Given the description of an element on the screen output the (x, y) to click on. 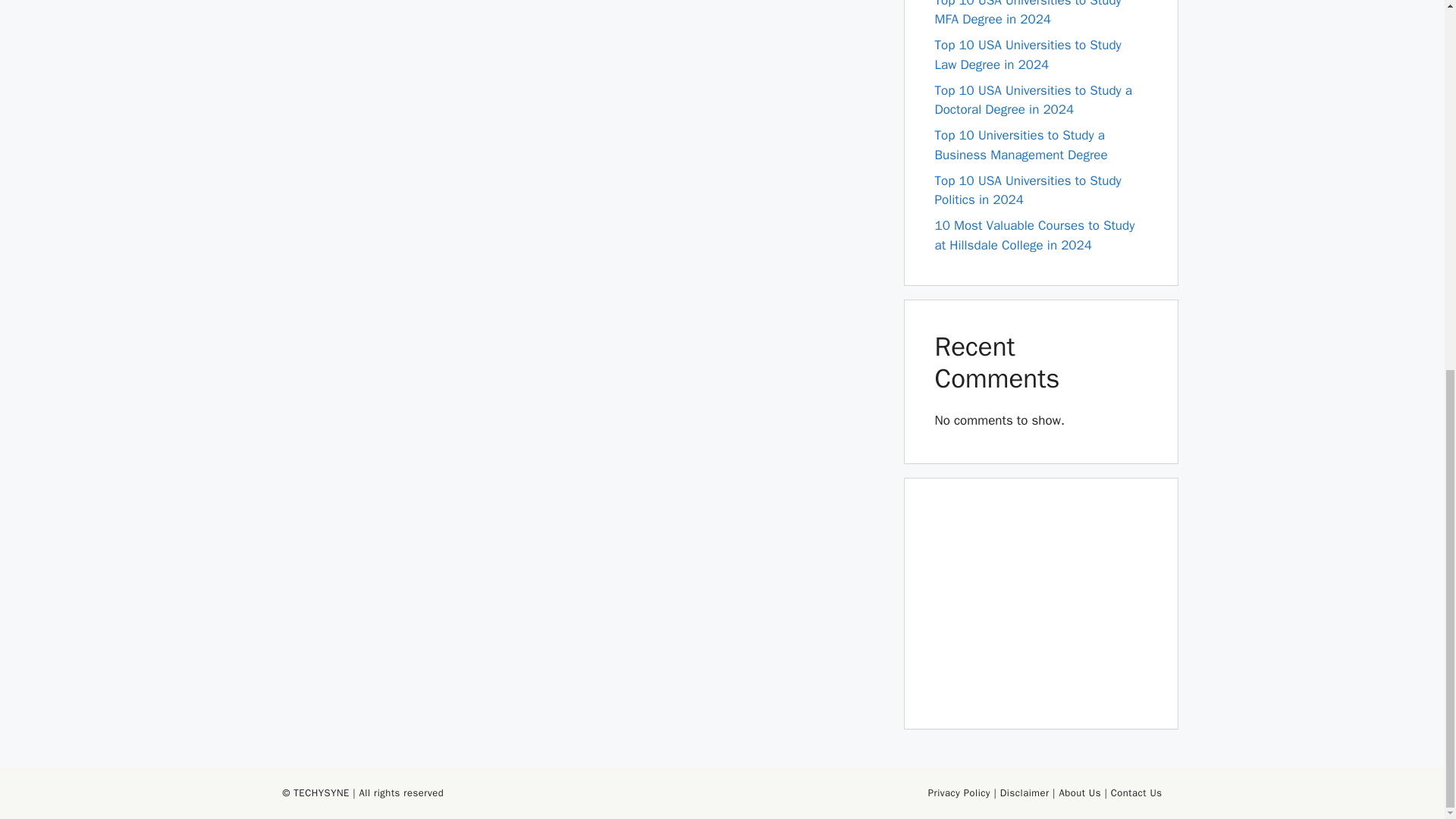
About Us (1079, 792)
Privacy Policy (959, 792)
Disclaimer (1024, 792)
Top 10 USA Universities to Study Politics in 2024 (1027, 189)
Top 10 Universities to Study a Business Management Degree (1020, 144)
Top 10 USA Universities to Study MFA Degree in 2024 (1027, 13)
Top 10 USA Universities to Study a Doctoral Degree in 2024 (1032, 99)
Contact Us (1135, 792)
Top 10 USA Universities to Study Law Degree in 2024 (1027, 54)
